Given the description of an element on the screen output the (x, y) to click on. 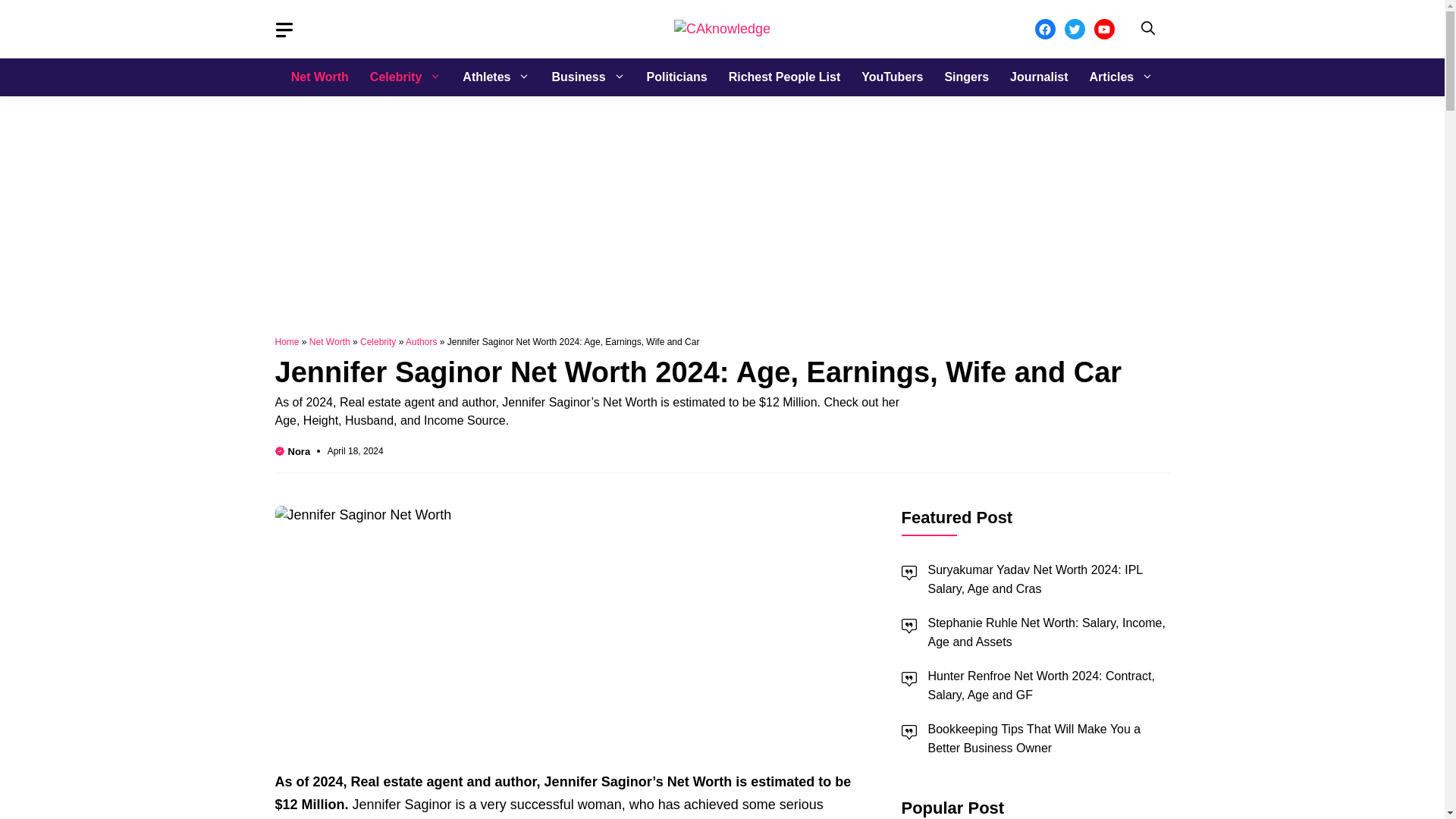
Athletes (495, 77)
Facebook (1043, 28)
Twitter (1074, 28)
Celebrity (405, 77)
Business (587, 77)
YouTube (1103, 28)
Politicians (676, 77)
Net Worth (319, 77)
